Given the description of an element on the screen output the (x, y) to click on. 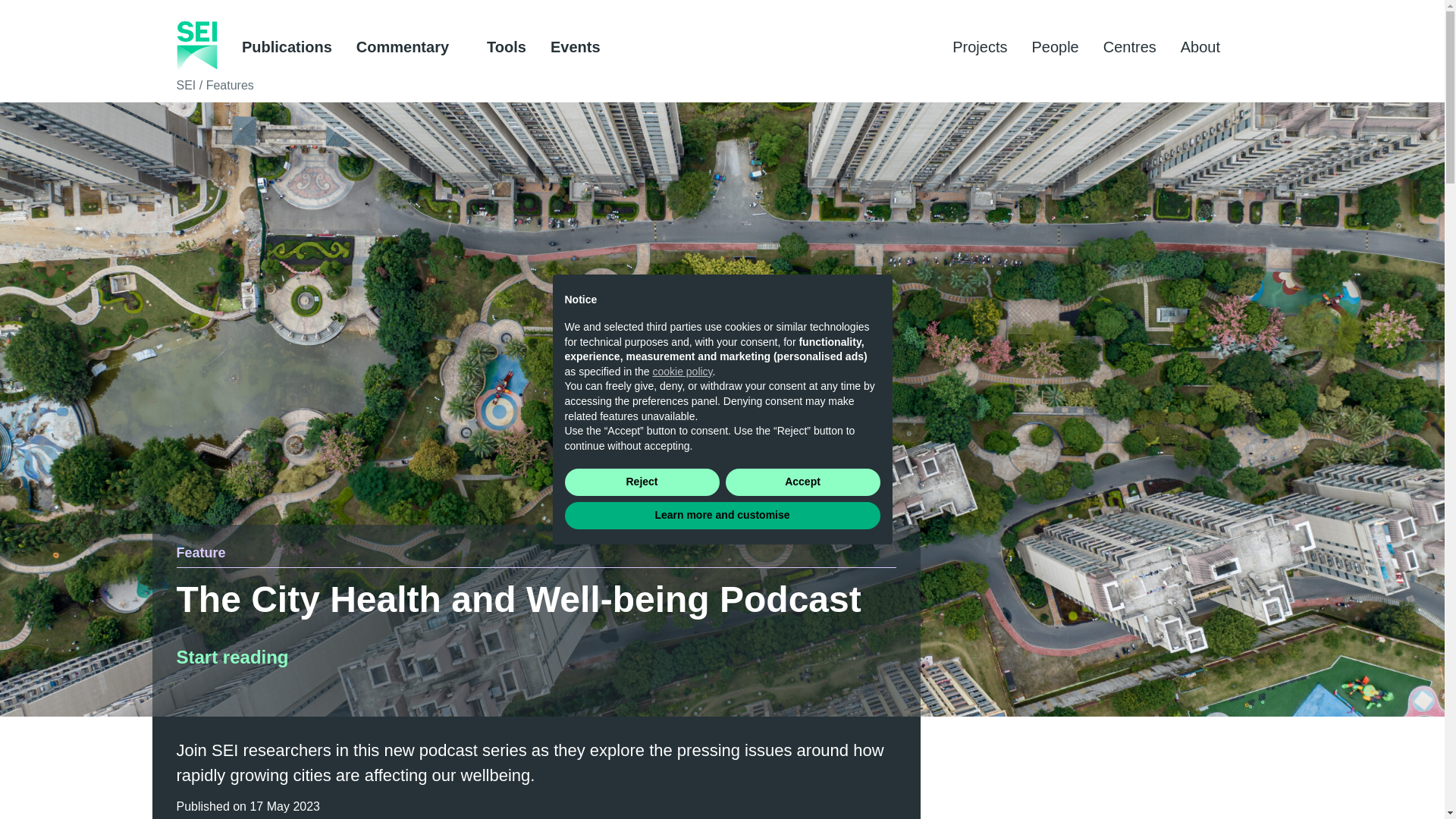
People (1054, 46)
Events (574, 46)
Tools (505, 46)
Publications (286, 46)
Commentary (409, 46)
Projects (979, 46)
Centres (1129, 46)
About (1206, 46)
